Given the description of an element on the screen output the (x, y) to click on. 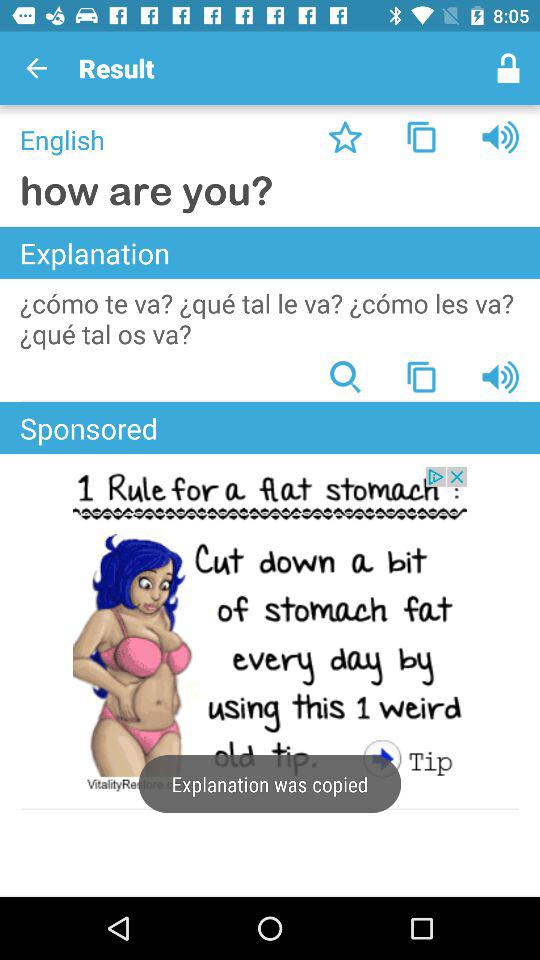
press the item next to the result icon (508, 67)
